Given the description of an element on the screen output the (x, y) to click on. 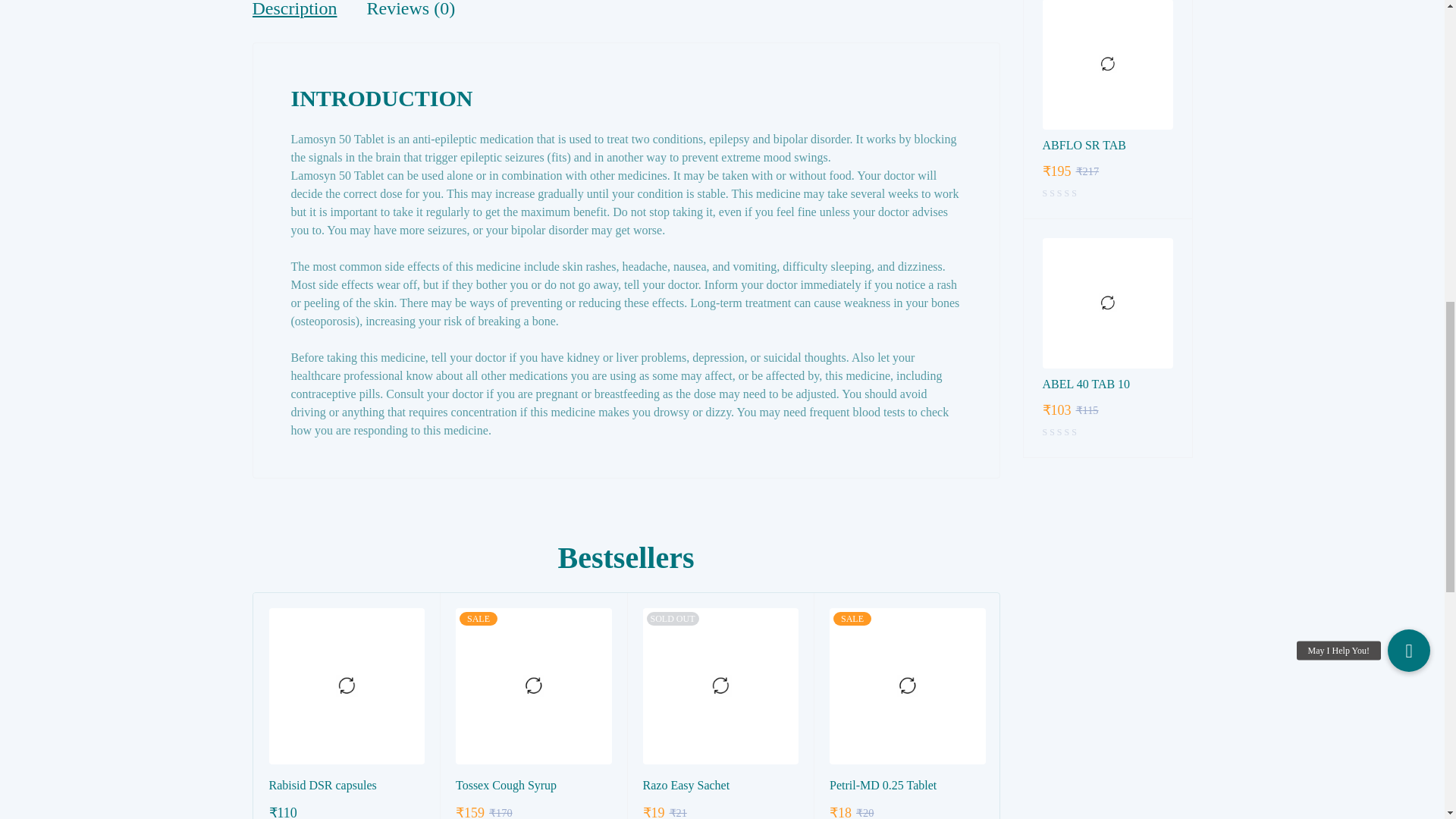
ABEL 40 TAB 10 (1107, 384)
ABFLO SR TAB (1107, 64)
ABFLO SR TAB (1107, 145)
ABEL 40 TAB 10 (1107, 303)
